Given the description of an element on the screen output the (x, y) to click on. 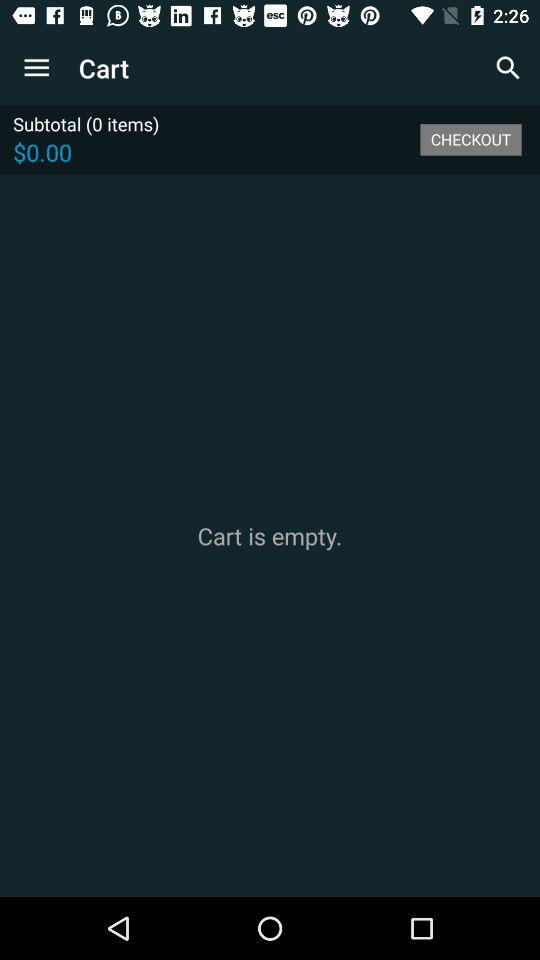
turn off the checkout (470, 139)
